Given the description of an element on the screen output the (x, y) to click on. 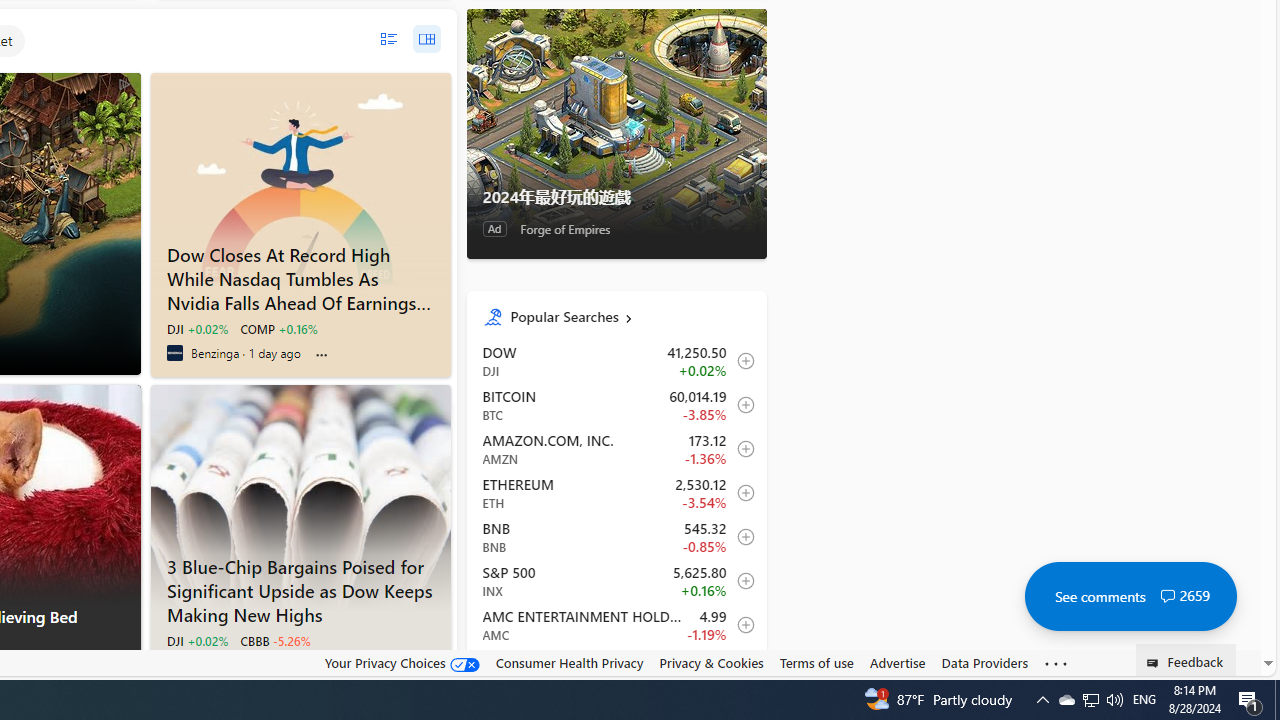
DJI DOW increase 41,250.50 +9.98 +0.02% itemundefined (615, 361)
See comments 2659 (1130, 596)
Data Providers (983, 663)
AdChoices (123, 668)
CBBB -5.26% (275, 640)
Terms of use (816, 662)
Consumer Health Privacy (569, 663)
list layout (388, 39)
BNB BNB decrease 545.32 -4.62 -0.85% itemundefined (615, 536)
Your Privacy Choices (401, 663)
INX S&P 500 increase 5,625.80 +8.96 +0.16% itemundefined (615, 580)
